Given the description of an element on the screen output the (x, y) to click on. 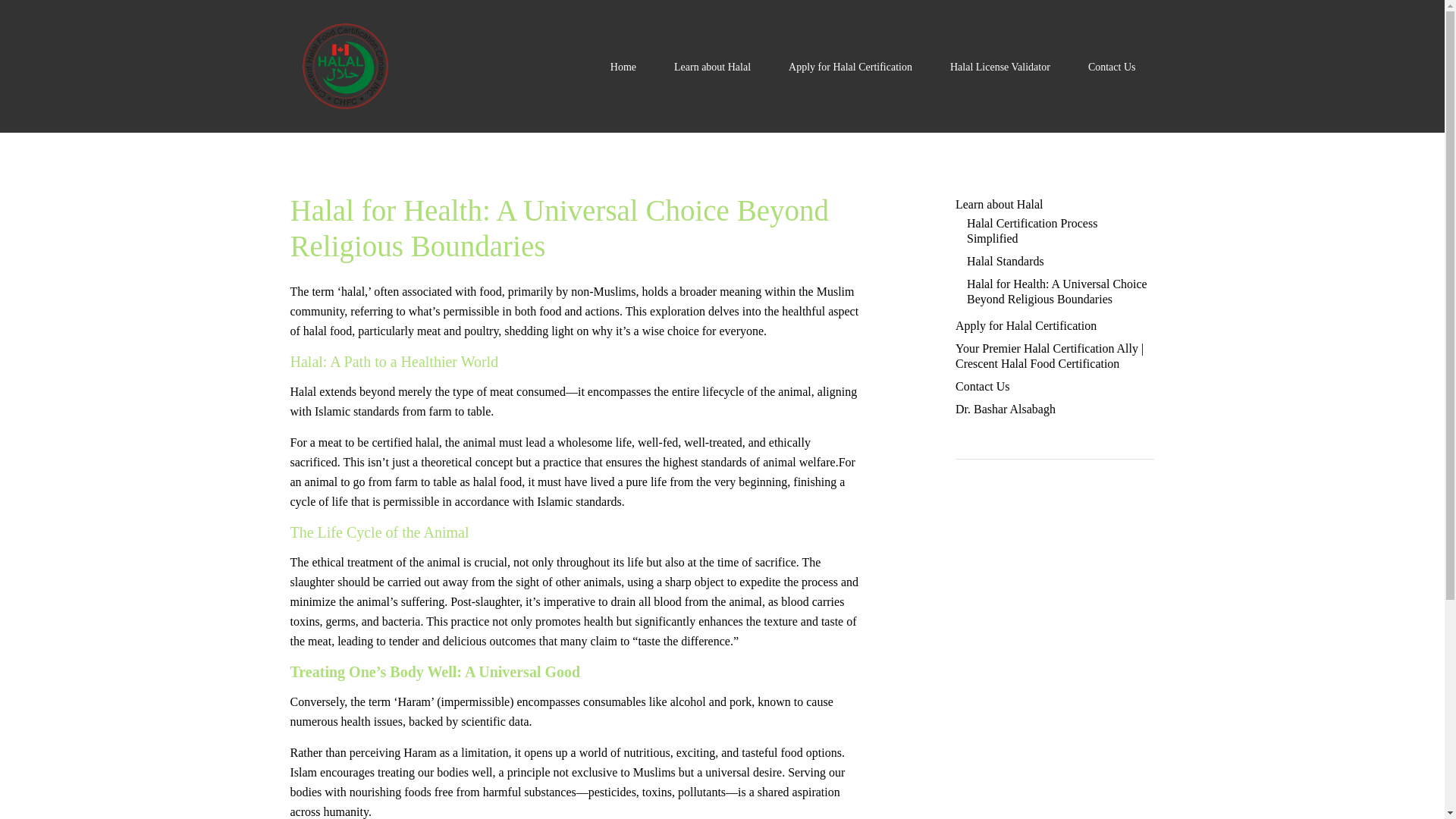
Apply for Halal Certification (849, 66)
Halal Certification Process Simplified (1031, 230)
Understanding Halal Certification (999, 204)
Halal License Validator (1000, 66)
Learn about Halal (999, 204)
Contact Us (1112, 66)
Home (623, 66)
Contact Us (982, 386)
Halal Standards (1004, 260)
Learn about Halal (711, 66)
Dr. Bashar Alsabagh (1005, 408)
Understanding Halal Certification (711, 66)
Apply for Halal Certification (1025, 325)
